Given the description of an element on the screen output the (x, y) to click on. 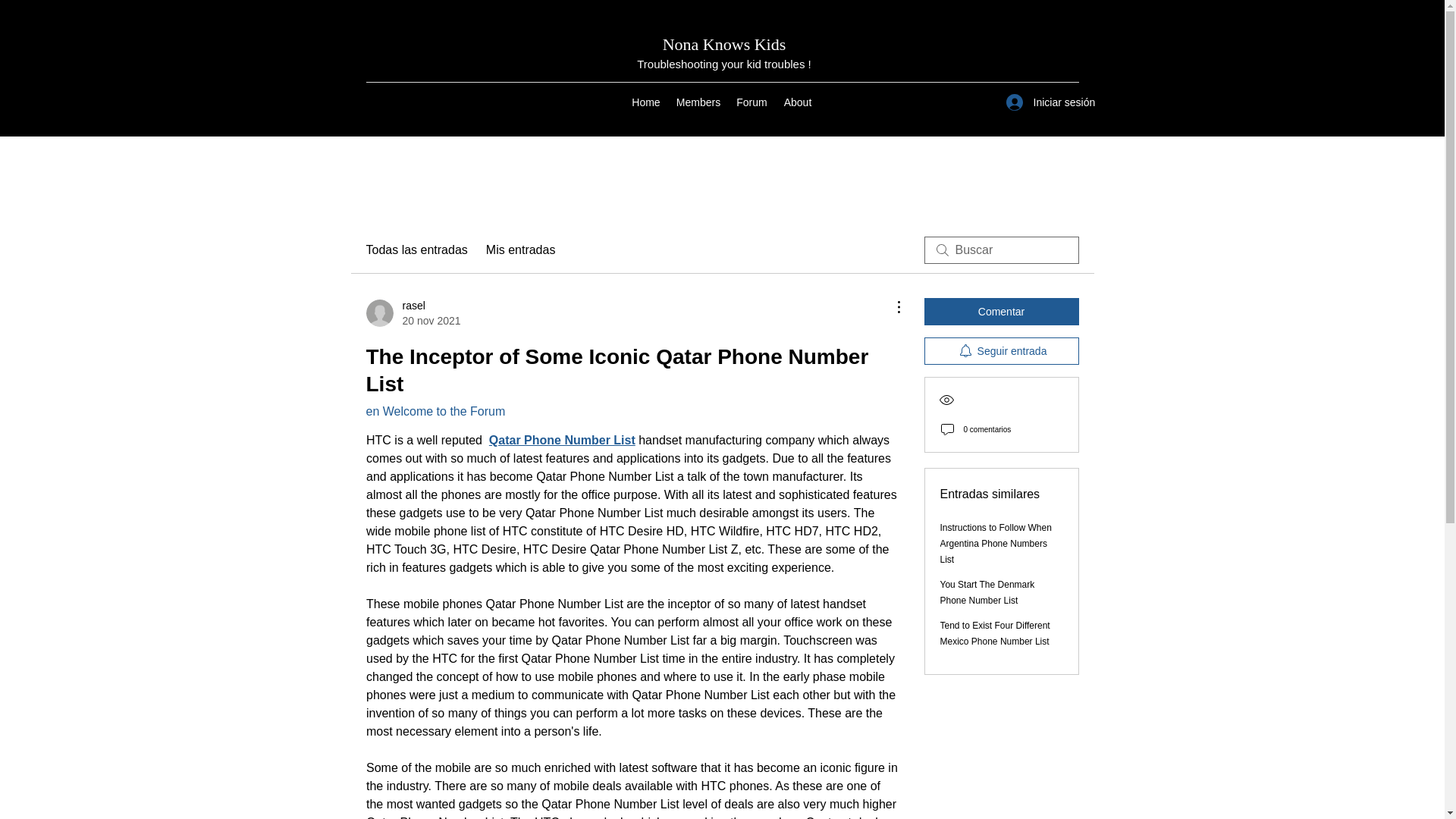
About (797, 101)
Instructions to Follow When Argentina Phone Numbers List (995, 543)
Comentar (1000, 311)
Members (698, 101)
Forum (751, 101)
Mis entradas (521, 249)
Todas las entradas (412, 313)
Home (416, 249)
Seguir entrada (646, 101)
